Given the description of an element on the screen output the (x, y) to click on. 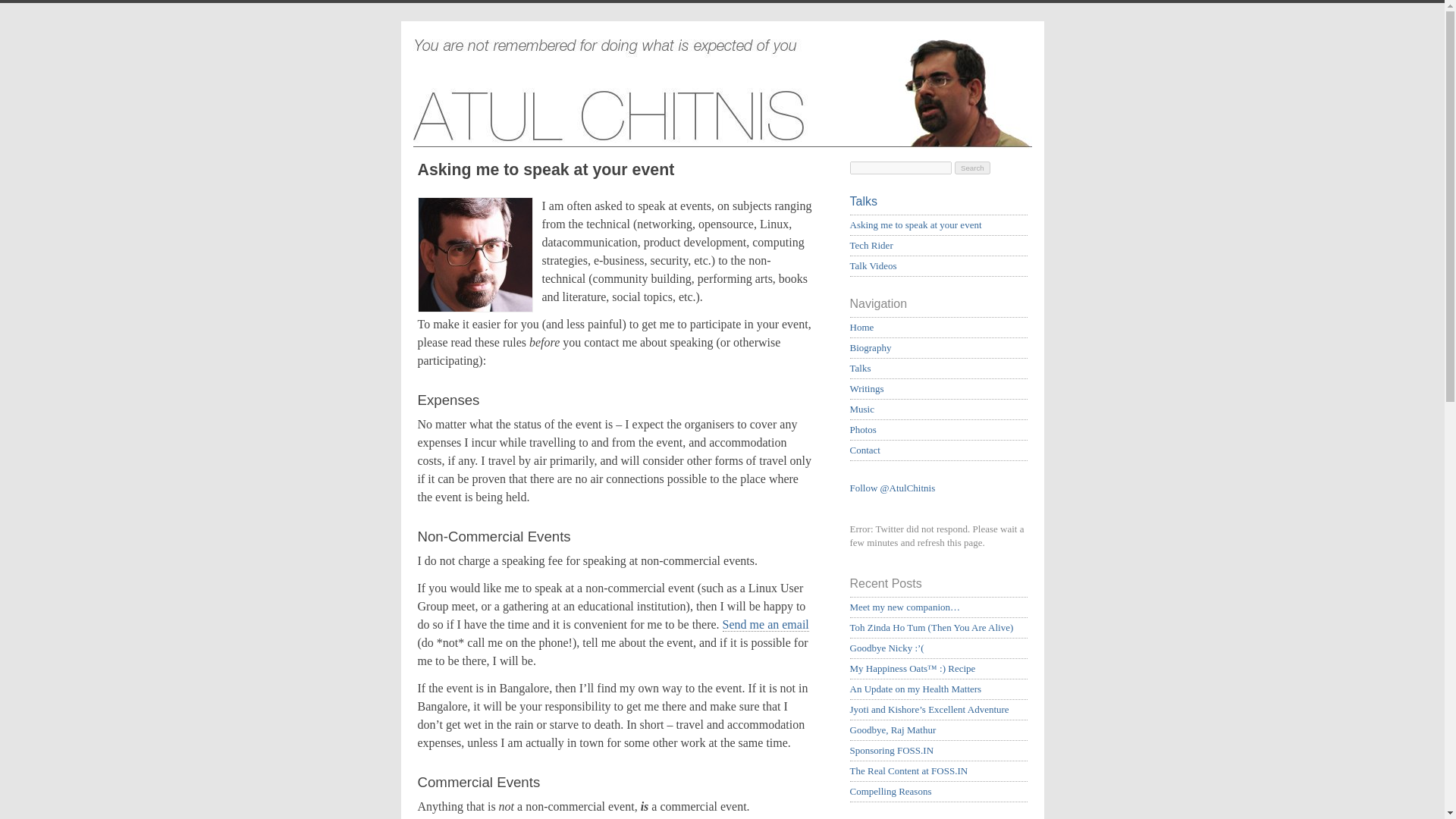
Writings (865, 388)
An Update on my Health Matters (914, 688)
The Real Content at FOSS.IN (908, 770)
Goodbye, Raj Mathur (892, 729)
The Real Content at FOSS.IN (908, 770)
Biography (869, 347)
Sponsoring FOSS.IN (890, 749)
Talks (859, 367)
Asking me to speak at your event (914, 224)
Talk Videos (872, 265)
Goodbye, Raj Mathur (892, 729)
Home (860, 326)
Contact (765, 624)
An Update on my Health Matters (914, 688)
